Given the description of an element on the screen output the (x, y) to click on. 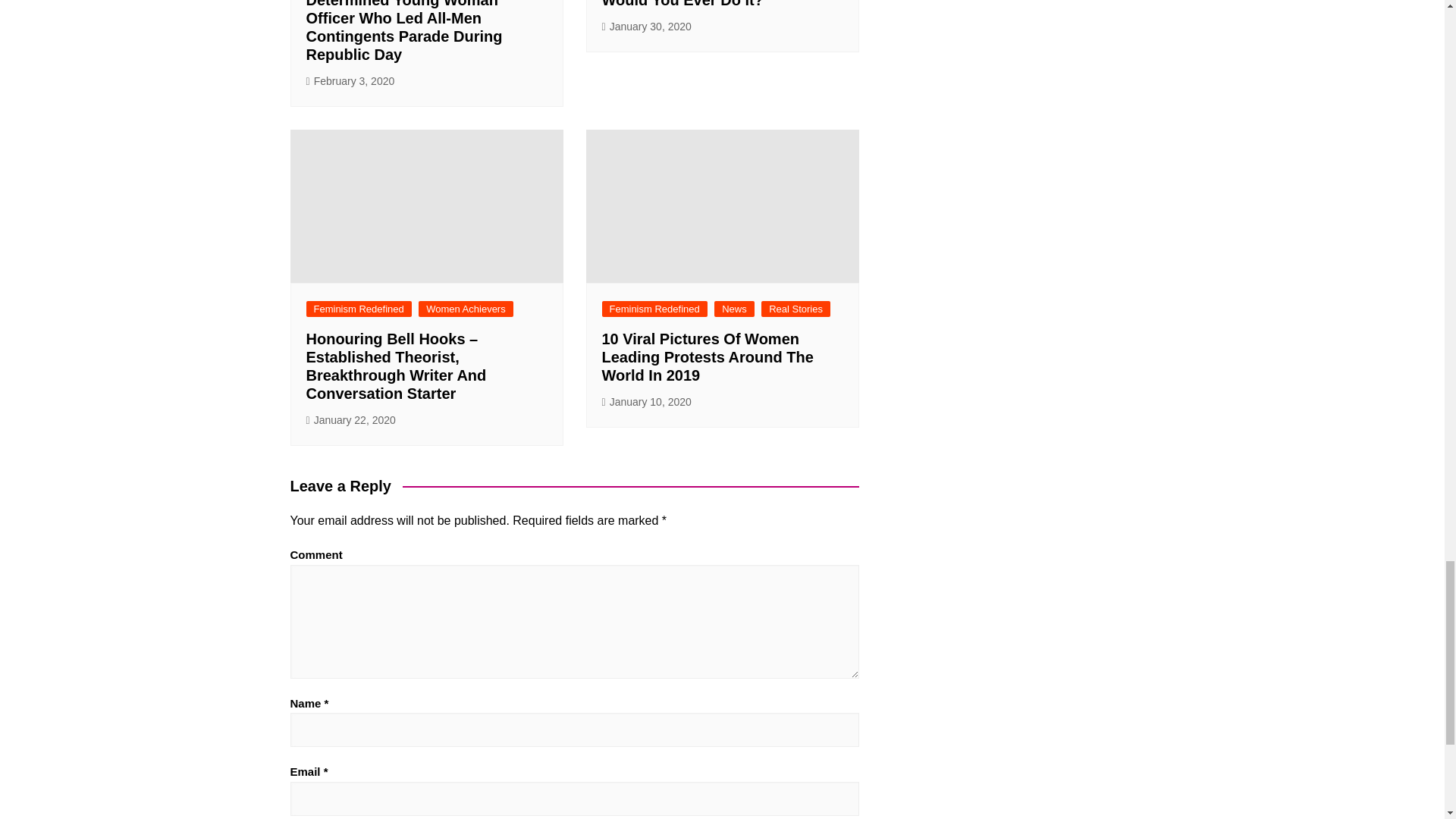
February 3, 2020 (349, 81)
A Marriage Without Kanyadaan: Would You Ever Do It? (715, 4)
January 30, 2020 (646, 27)
